Given the description of an element on the screen output the (x, y) to click on. 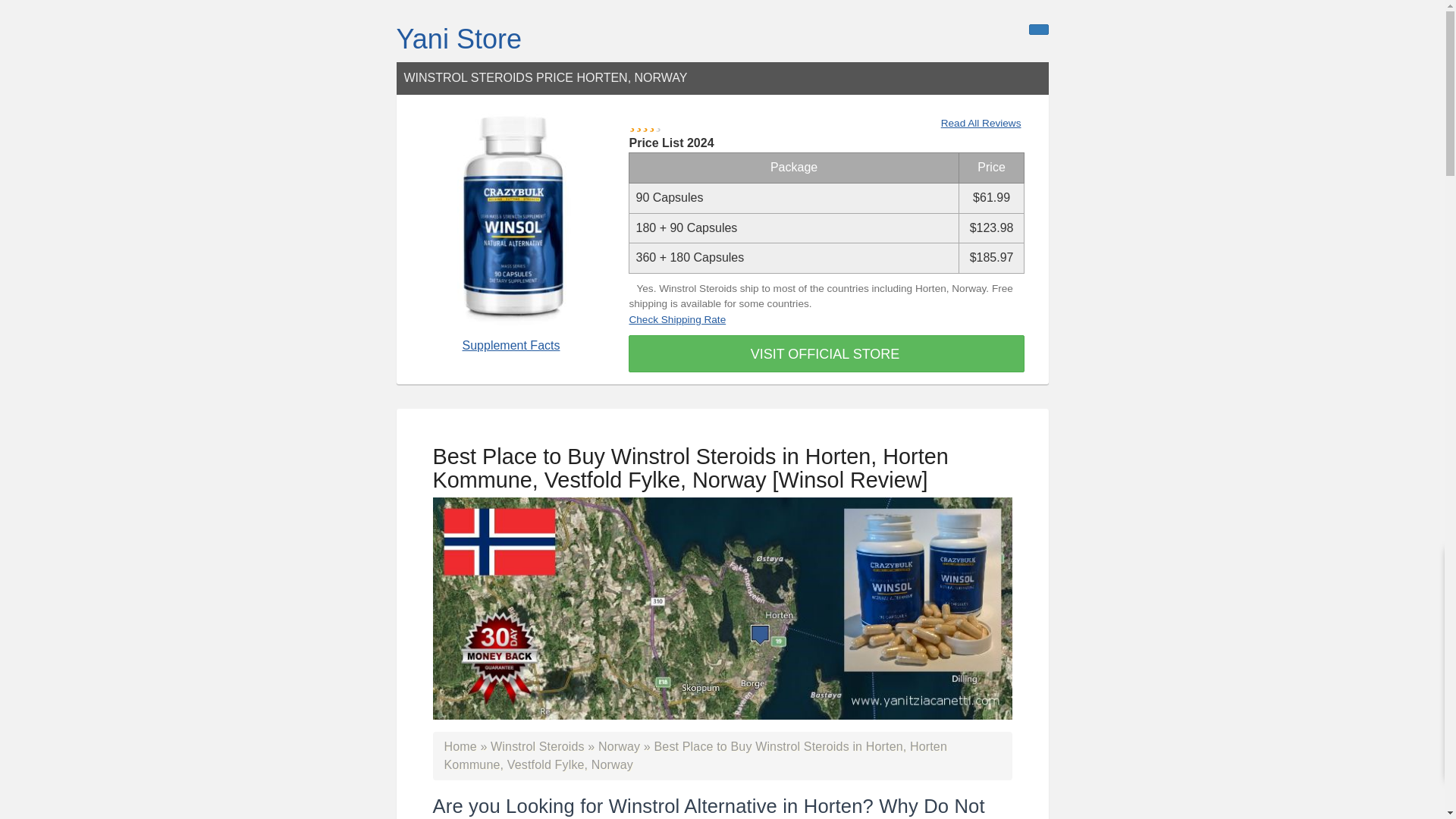
Yani Store (458, 38)
Norway (619, 746)
Winstrol Steroids (537, 746)
Yani Store (458, 38)
Buy Winstrol Steroids Online  (537, 746)
Home (460, 746)
Buy Winstrol Steroids in Norway  (619, 746)
